Given the description of an element on the screen output the (x, y) to click on. 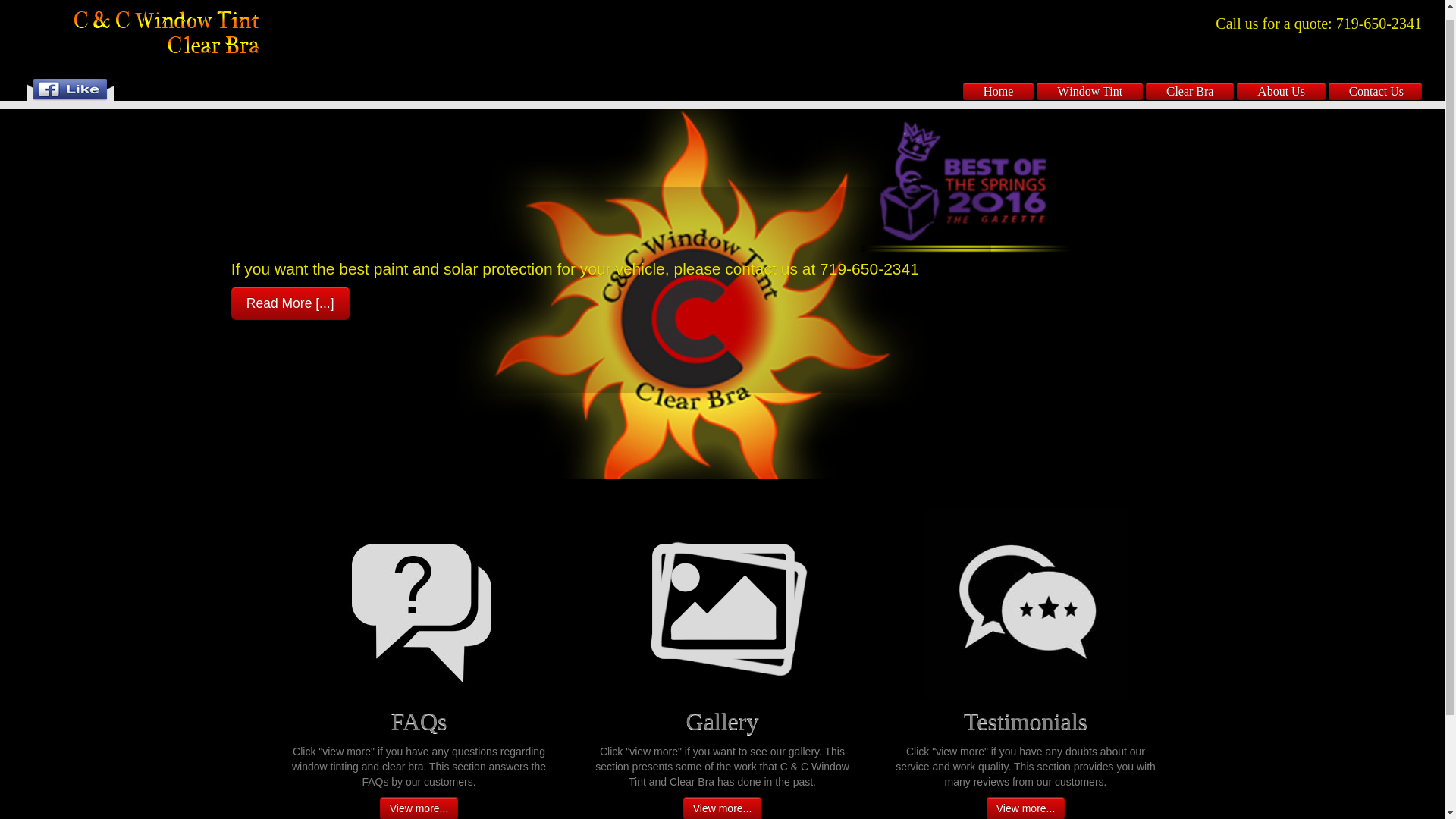
About Us (1281, 81)
Like us (56, 78)
Contact Us (1375, 81)
Home (998, 81)
Window Tint (1089, 81)
Clear Bra (1189, 81)
